Given the description of an element on the screen output the (x, y) to click on. 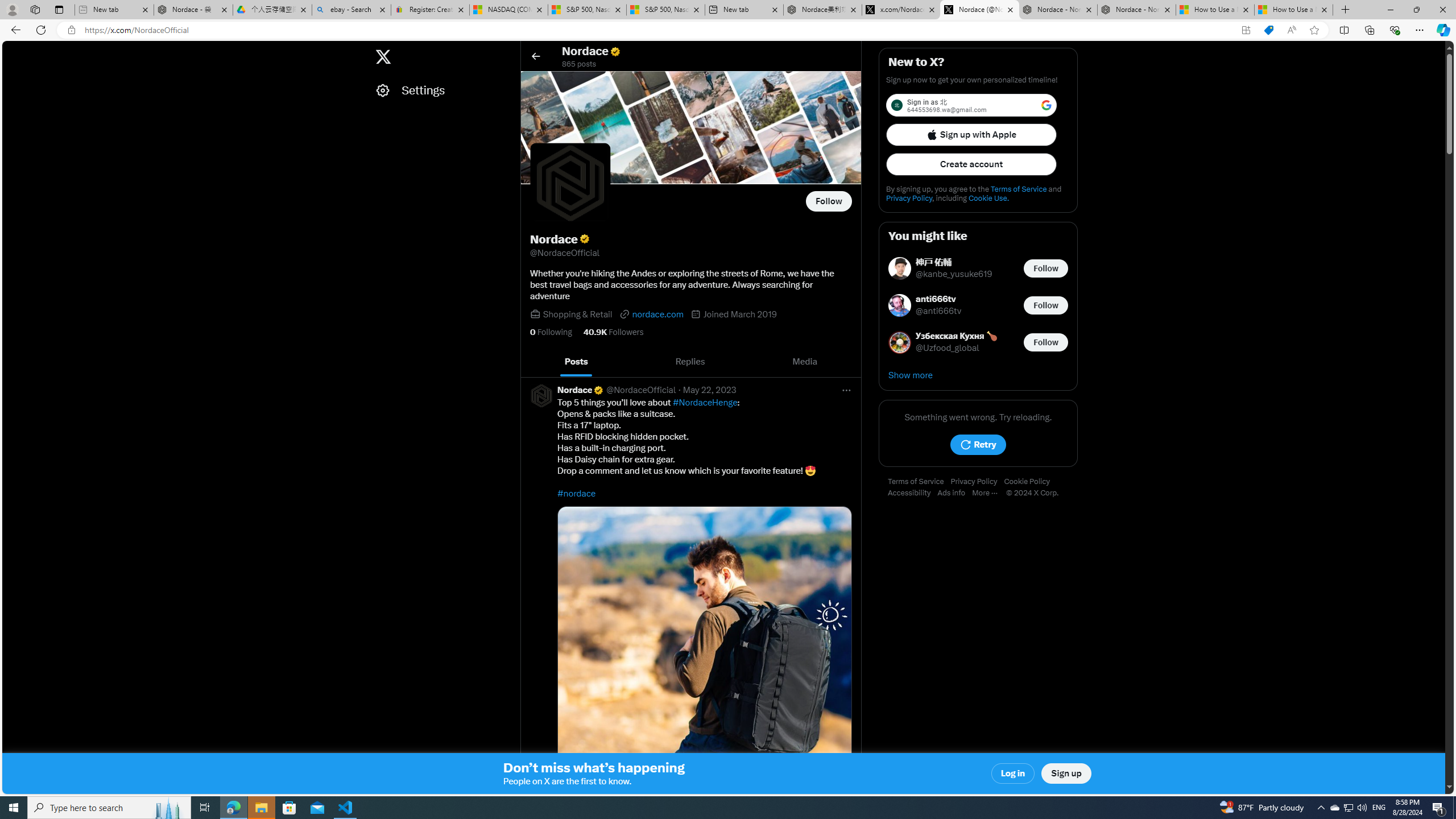
x.com/NordaceOfficial (900, 9)
Follow @Uzfood_global (1045, 341)
Image (704, 653)
Nordace Verified account (580, 389)
New tab - Sleeping (113, 9)
@kanbe_yusuke619 (953, 274)
Square profile picture (541, 395)
@NordaceOfficial (640, 389)
anti666tv (938, 299)
Square profile picture (540, 395)
Posts (576, 361)
Privacy Policy (977, 481)
